Given the description of an element on the screen output the (x, y) to click on. 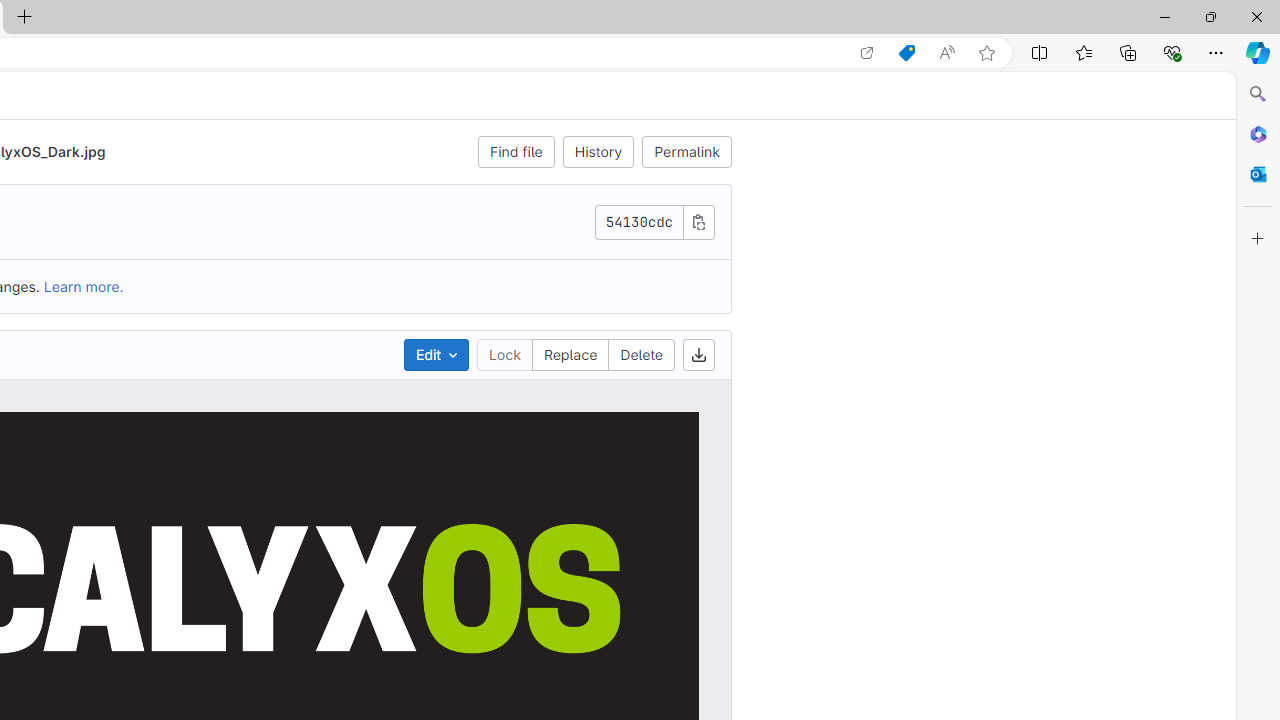
Find file (516, 151)
Replace (570, 354)
Edit (435, 354)
History (597, 151)
Copy commit SHA (699, 221)
Learn more. (83, 286)
